Given the description of an element on the screen output the (x, y) to click on. 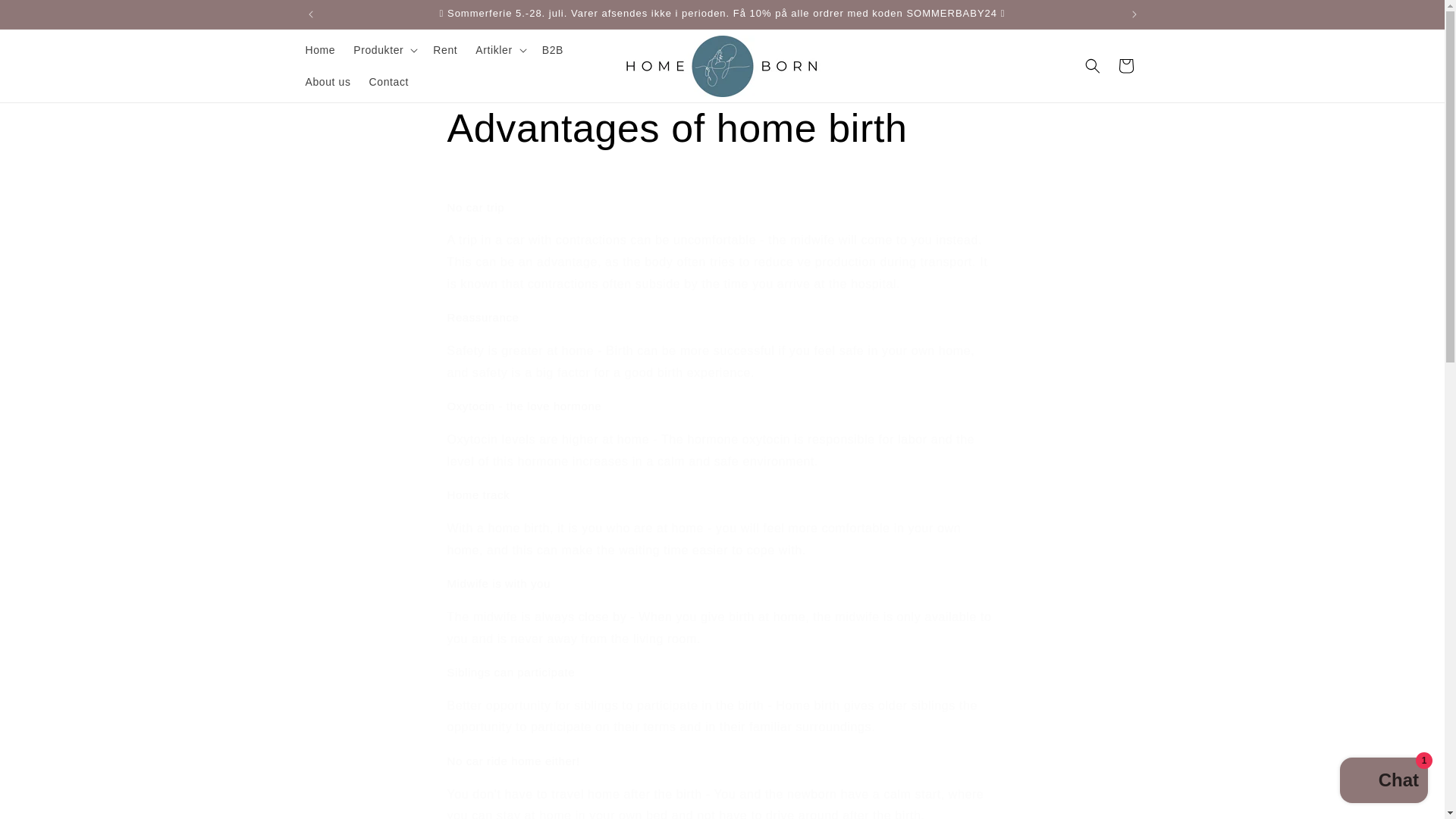
Home (319, 50)
Advantages of home birth (721, 128)
Shopify online store chat (1383, 781)
Rent (444, 50)
About us (327, 81)
Cart (1124, 65)
Contact (388, 81)
B2B (552, 50)
Skip to content (45, 17)
